Given the description of an element on the screen output the (x, y) to click on. 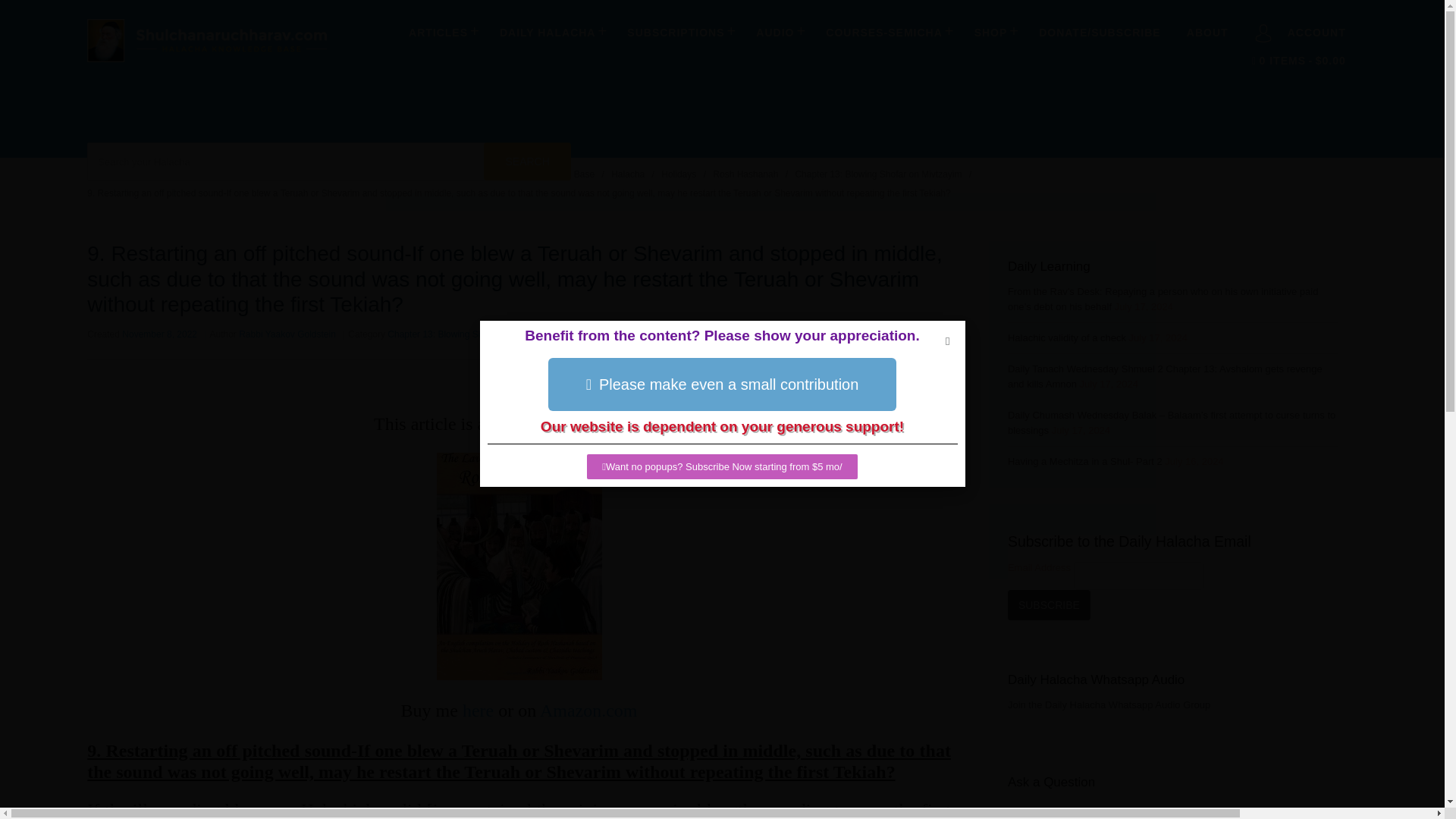
Knowledge Base (560, 173)
View all posts in Rosh Hashanah (746, 173)
View all posts in Halacha (628, 173)
Subscribe (1048, 604)
Shulchanaruchharav.com (206, 62)
Rabbi Yaakov Goldstein (287, 334)
Start shopping (1298, 60)
View all posts in Holidays (679, 173)
ARTICLES (440, 31)
Home (498, 173)
View all posts in Chapter 13: Blowing Shofar on Mivtzayim (878, 173)
